Given the description of an element on the screen output the (x, y) to click on. 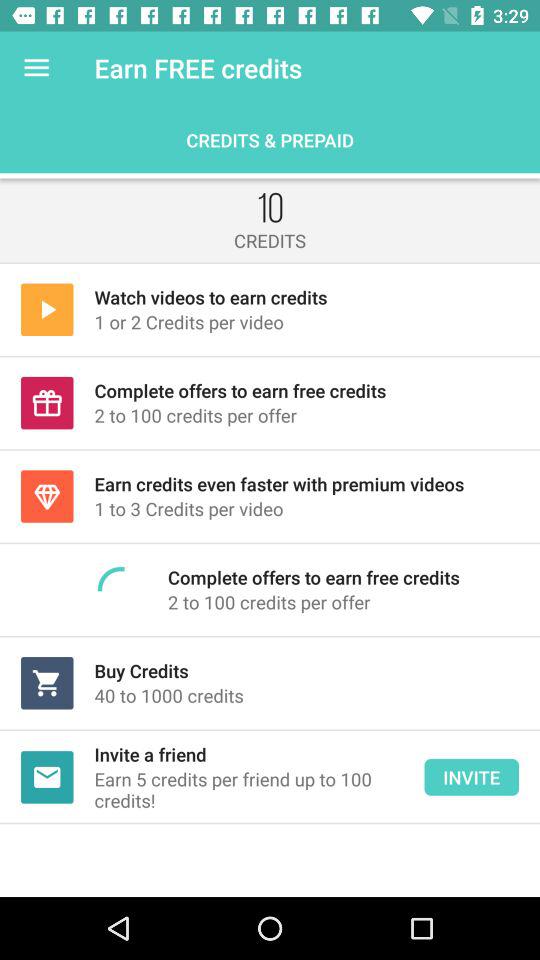
click on the button next to invite a friend (471, 777)
